Given the description of an element on the screen output the (x, y) to click on. 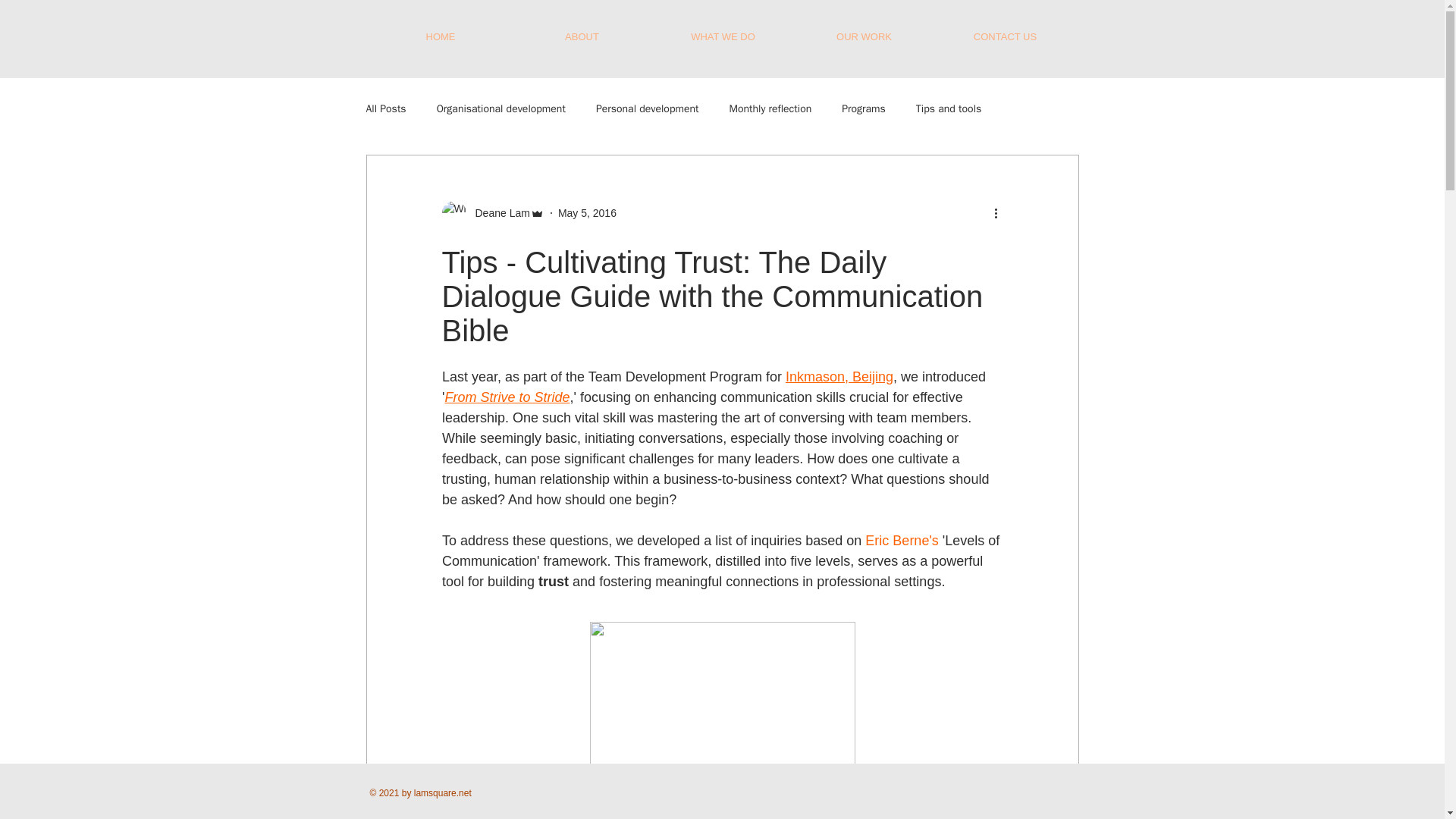
Monthly reflection (769, 109)
Programs (863, 109)
Personal development (646, 109)
Deane Lam (497, 212)
Inkmason, Beijing (838, 376)
Organisational development (501, 109)
WHAT WE DO (722, 36)
Tips and tools (948, 109)
HOME (440, 36)
From Strive to Stride (506, 396)
ABOUT (581, 36)
May 5, 2016 (586, 212)
Eric Berne's (900, 540)
All Posts (385, 109)
CONTACT US (1004, 36)
